Given the description of an element on the screen output the (x, y) to click on. 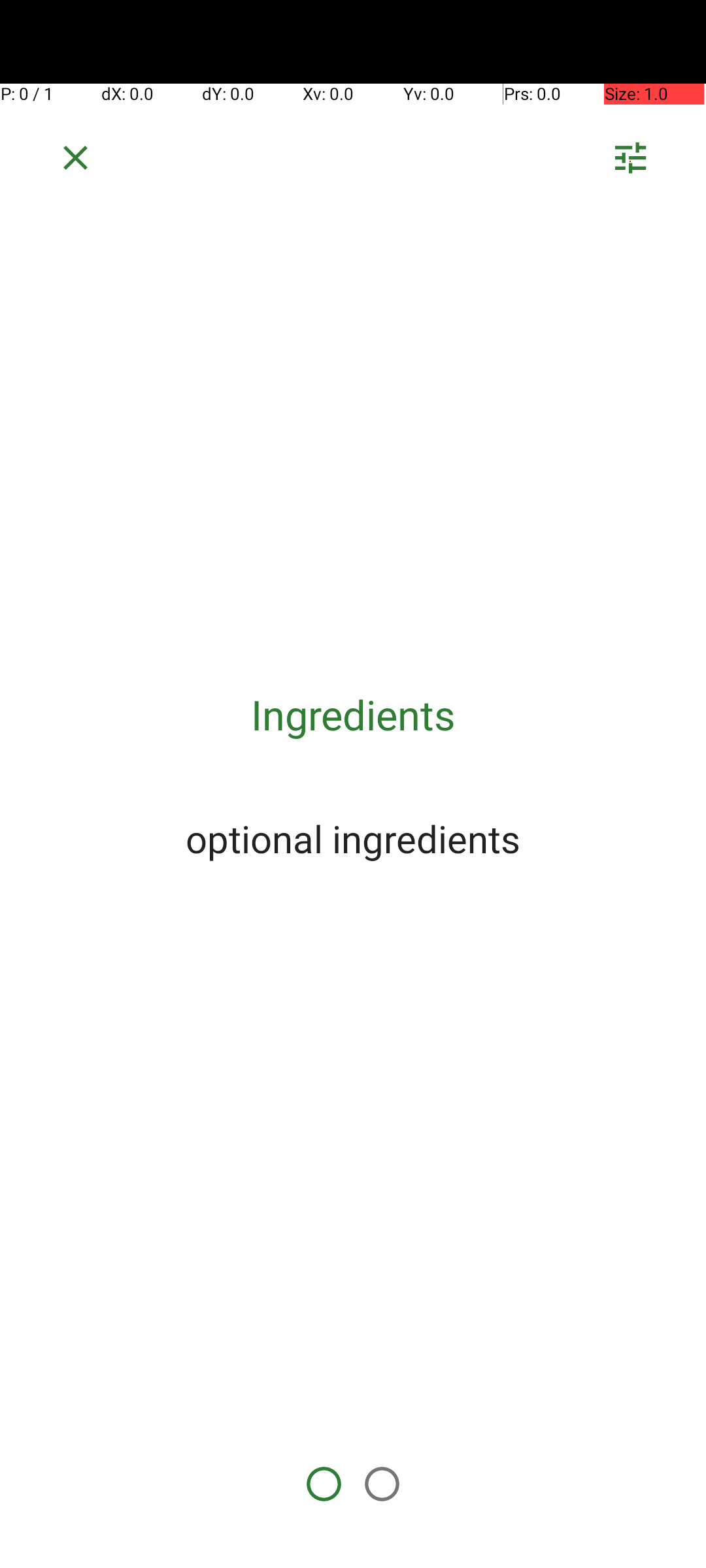
optional ingredients Element type: android.widget.TextView (353, 838)
